Given the description of an element on the screen output the (x, y) to click on. 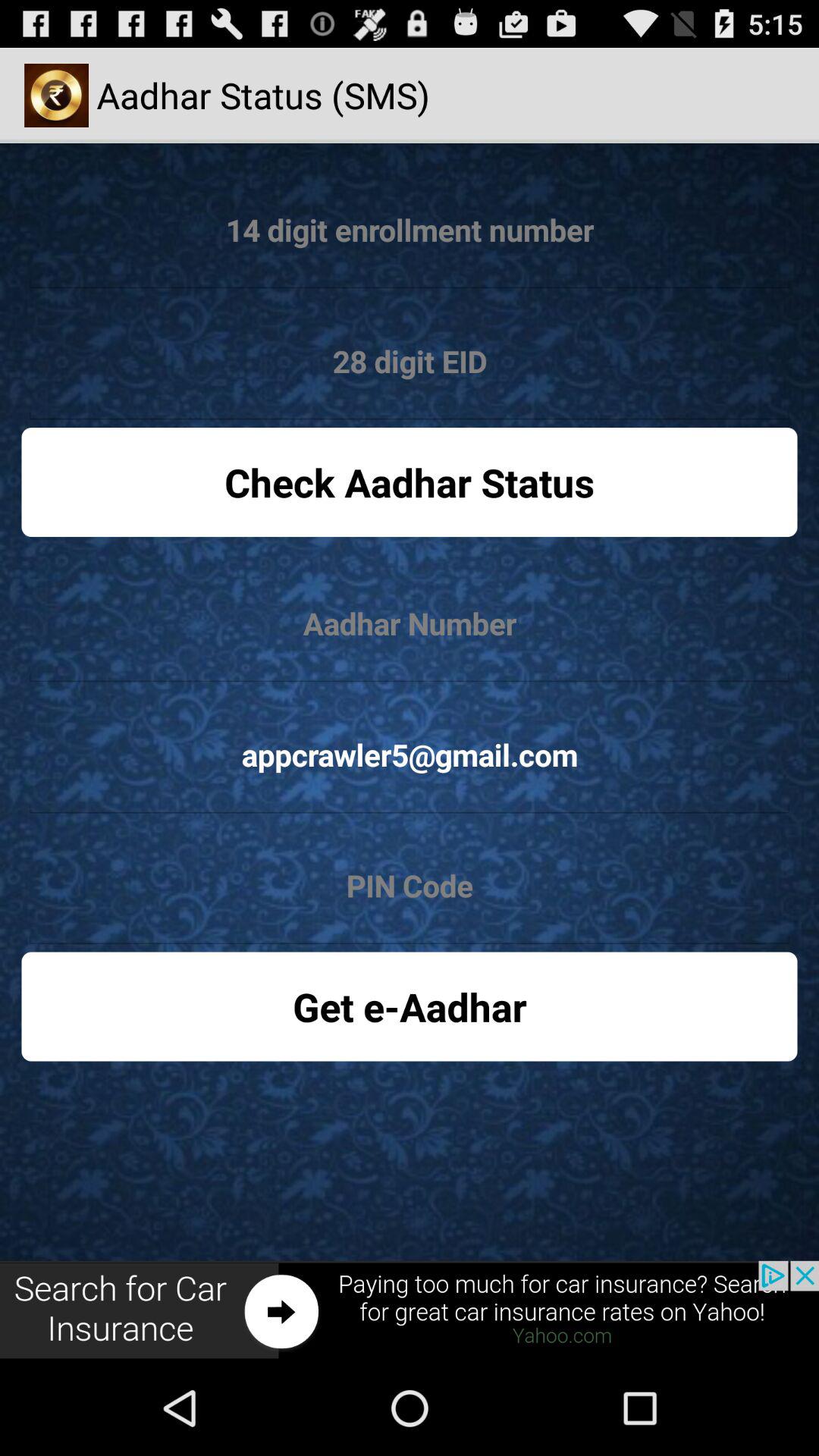
edit aadhar number (409, 623)
